Given the description of an element on the screen output the (x, y) to click on. 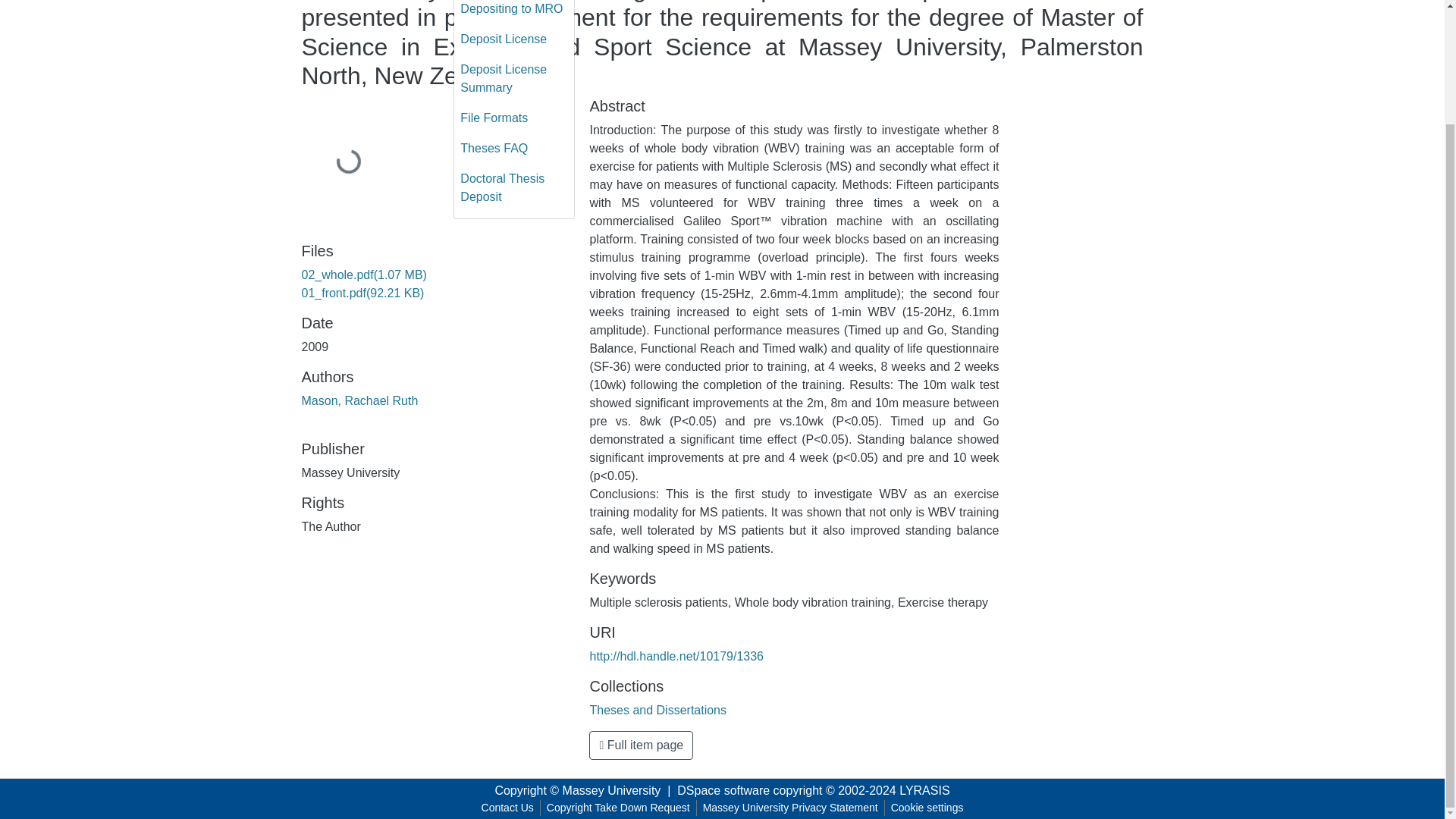
Full item page (641, 745)
Depositing to MRO (513, 12)
Contact Us (508, 807)
DSpace software (723, 789)
Theses and Dissertations (657, 709)
File Formats (513, 118)
Deposit License (513, 39)
Theses FAQ (513, 148)
Mason, Rachael Ruth (360, 400)
LYRASIS (924, 789)
